Given the description of an element on the screen output the (x, y) to click on. 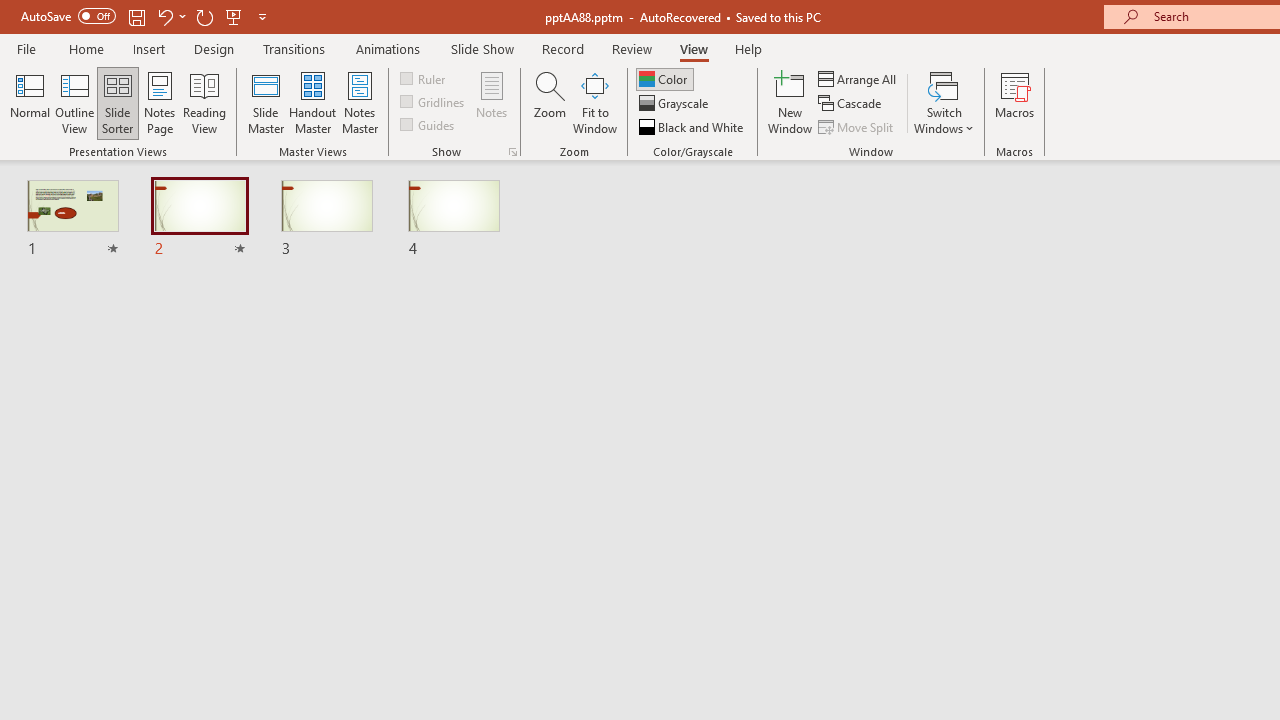
Color (664, 78)
Notes Master (360, 102)
